Given the description of an element on the screen output the (x, y) to click on. 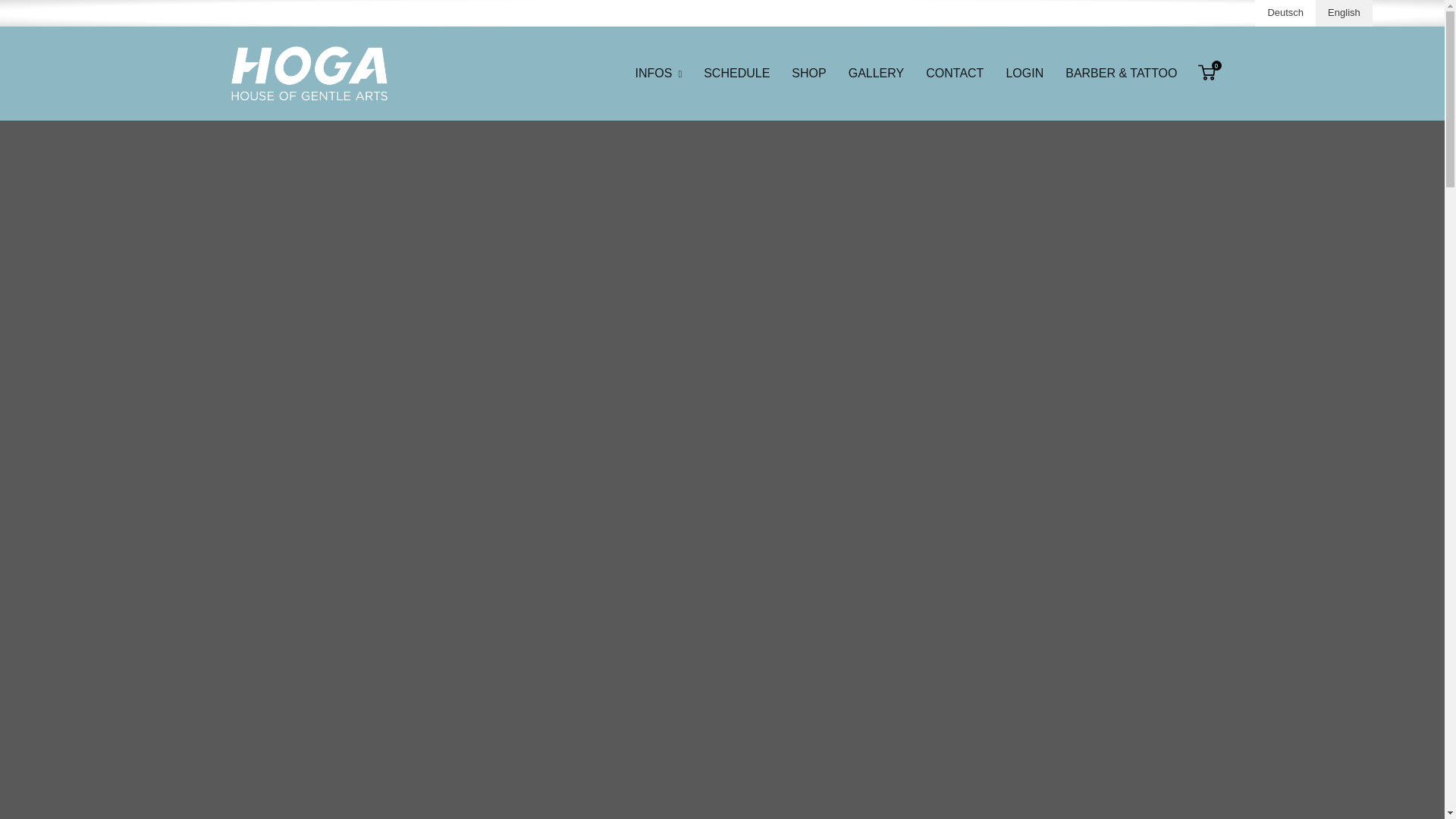
English (1344, 13)
GALLERY (877, 73)
CONTACT (954, 73)
SHOP (808, 73)
SCHEDULE (736, 73)
LOGIN (1023, 73)
Deutsch (1206, 72)
